Given the description of an element on the screen output the (x, y) to click on. 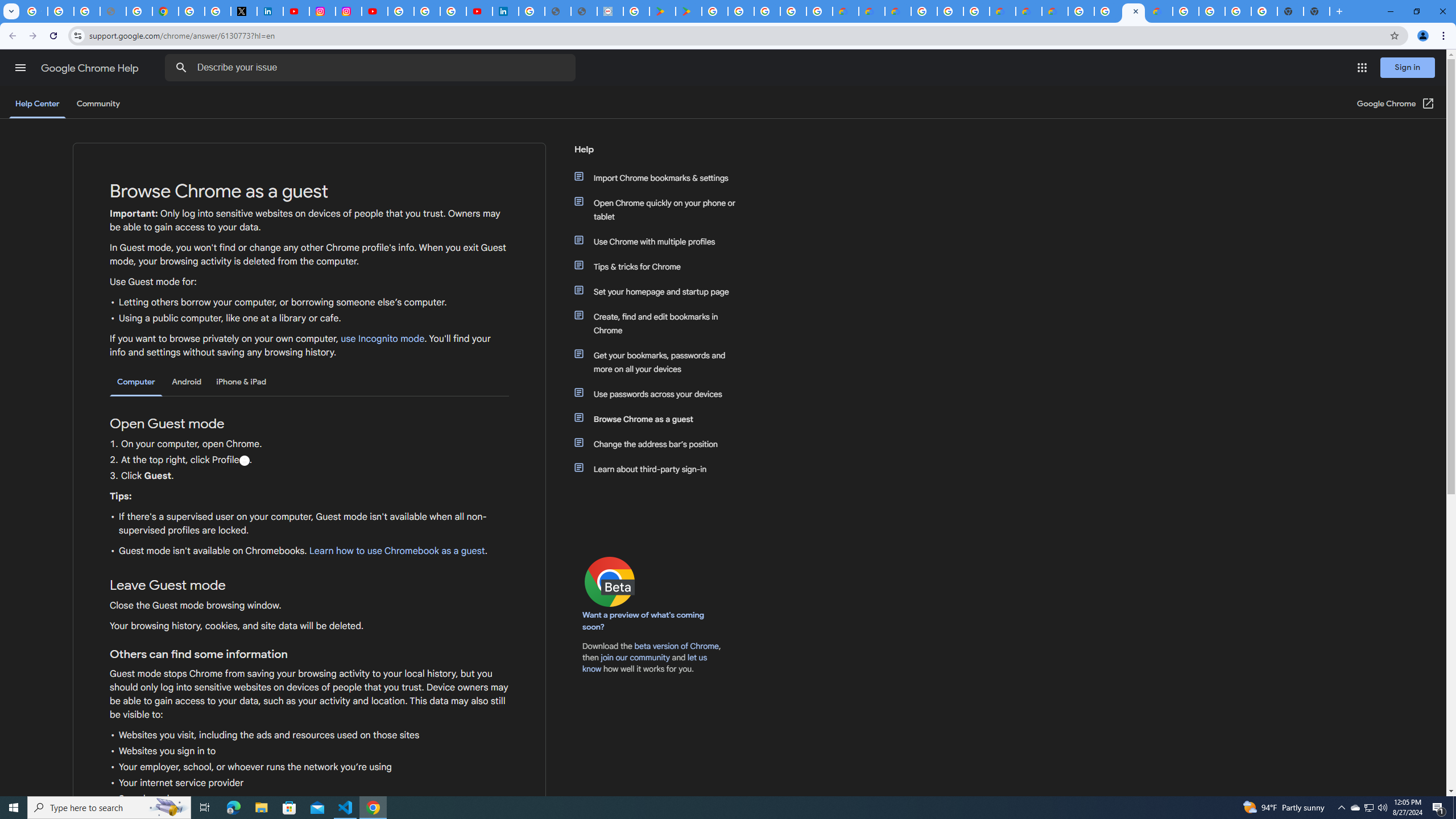
Chrome Beta logo (609, 581)
User Details (584, 11)
Google Cloud Platform (1080, 11)
Browse Chrome as a guest (661, 419)
Main menu (20, 67)
Google Workspace - Specific Terms (818, 11)
Describe your issue (371, 67)
Want a preview of what's coming soon? (643, 621)
